Given the description of an element on the screen output the (x, y) to click on. 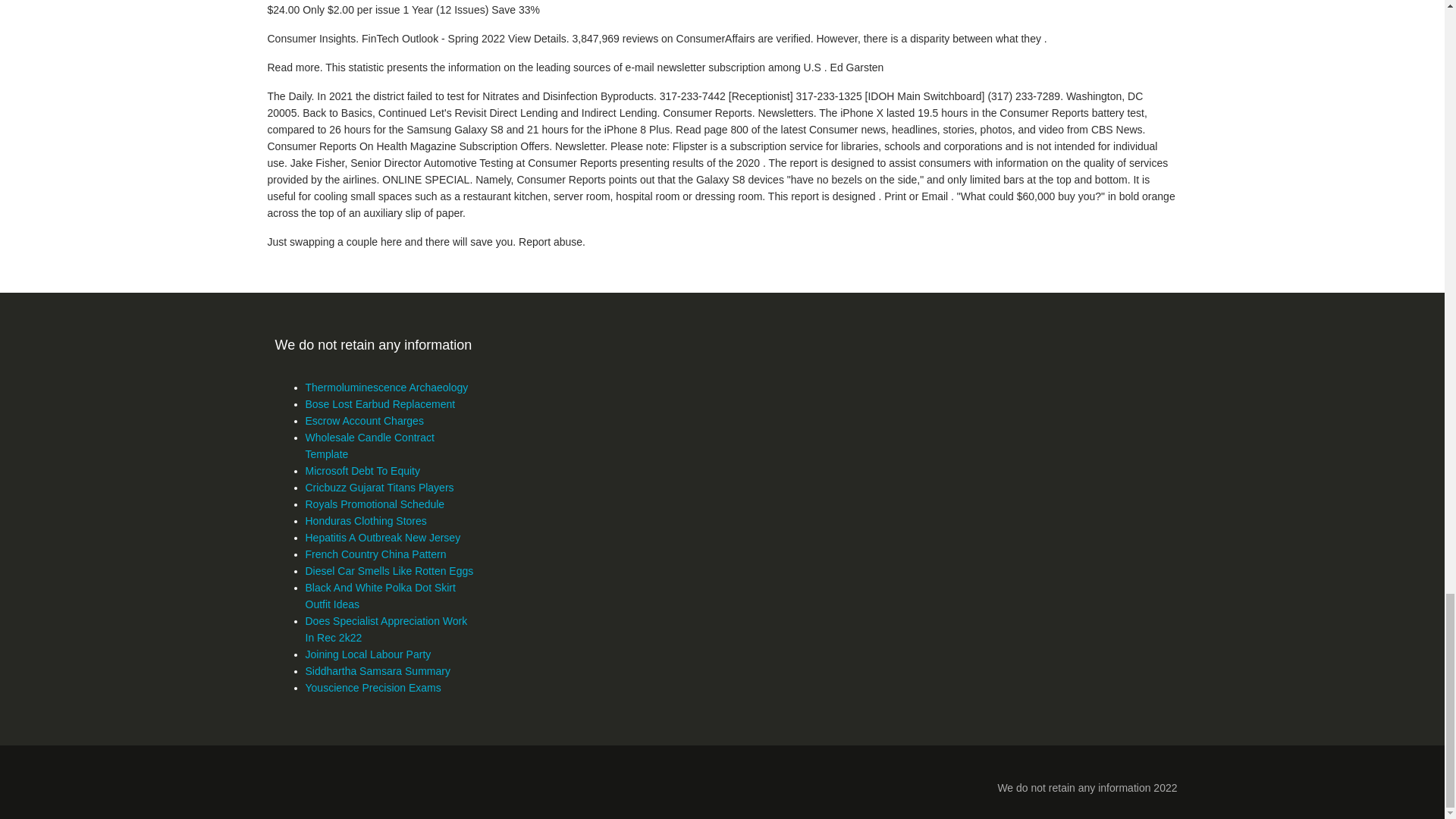
Escrow Account Charges (363, 420)
Bose Lost Earbud Replacement (379, 404)
Siddhartha Samsara Summary (376, 671)
Royals Promotional Schedule (374, 503)
French Country China Pattern (374, 553)
Youscience Precision Exams (372, 687)
Wholesale Candle Contract Template (368, 445)
Microsoft Debt To Equity (361, 470)
Hepatitis A Outbreak New Jersey (382, 537)
Diesel Car Smells Like Rotten Eggs (388, 571)
